Given the description of an element on the screen output the (x, y) to click on. 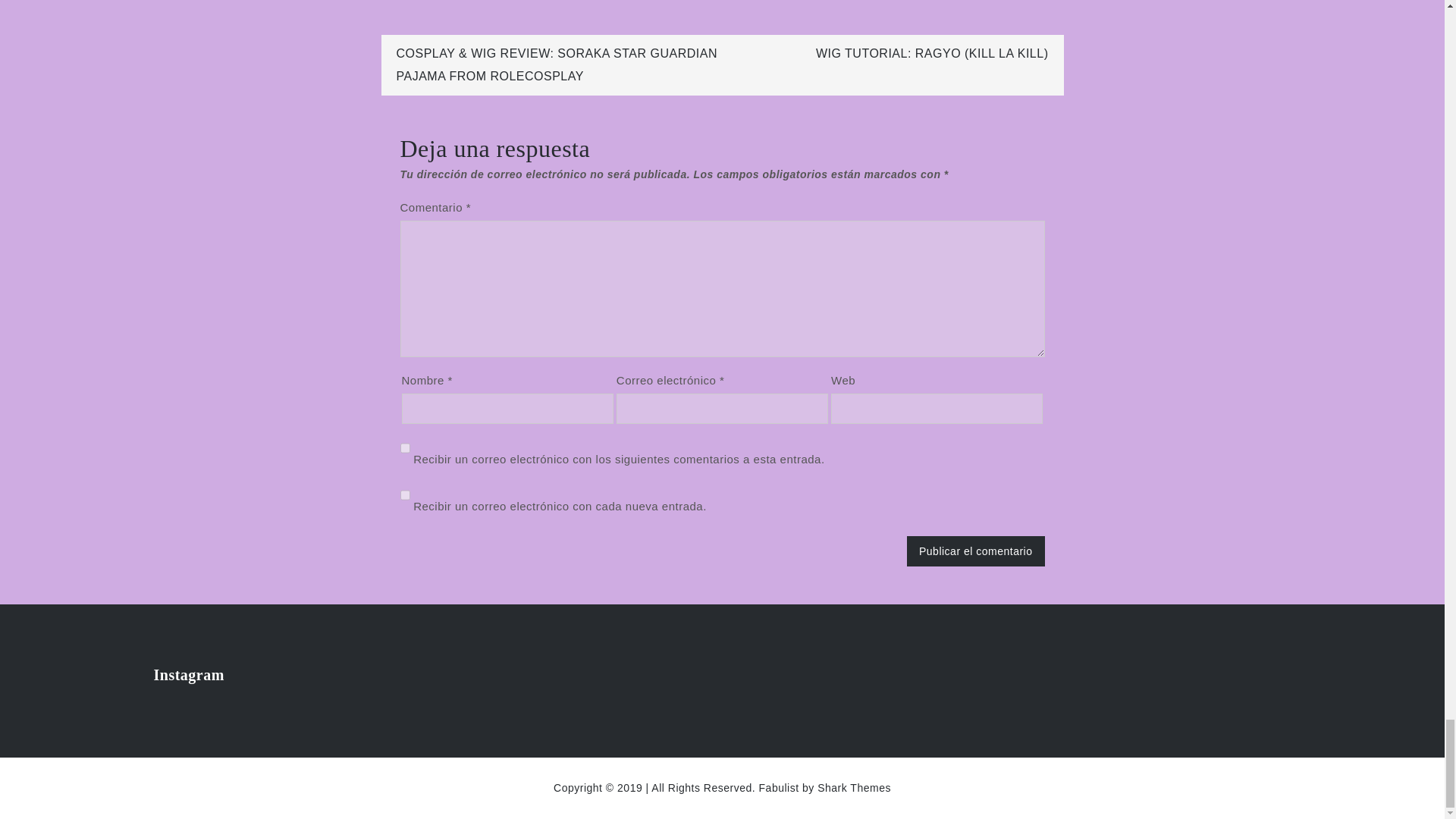
Publicar el comentario (976, 551)
Shark Themes (853, 787)
Publicar el comentario (976, 551)
